Given the description of an element on the screen output the (x, y) to click on. 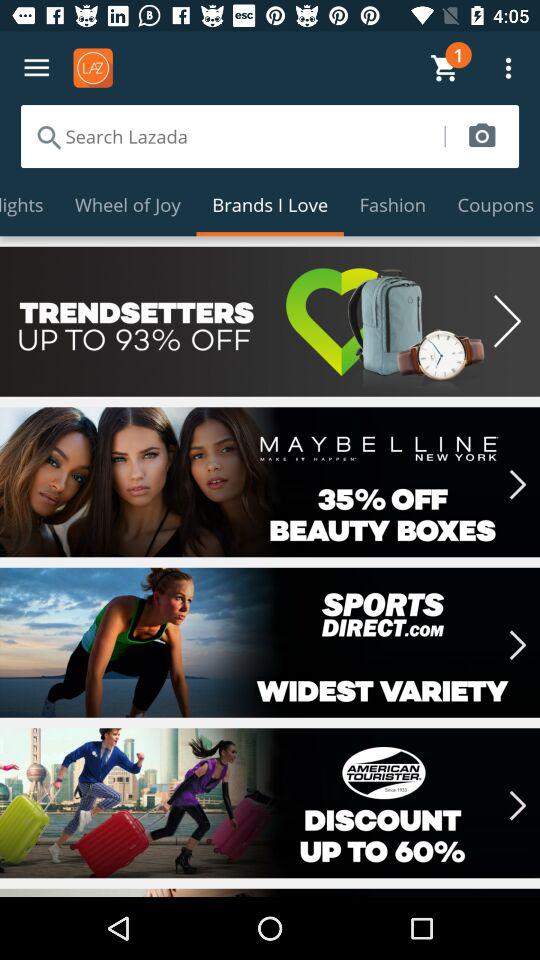
submit image (482, 136)
